Given the description of an element on the screen output the (x, y) to click on. 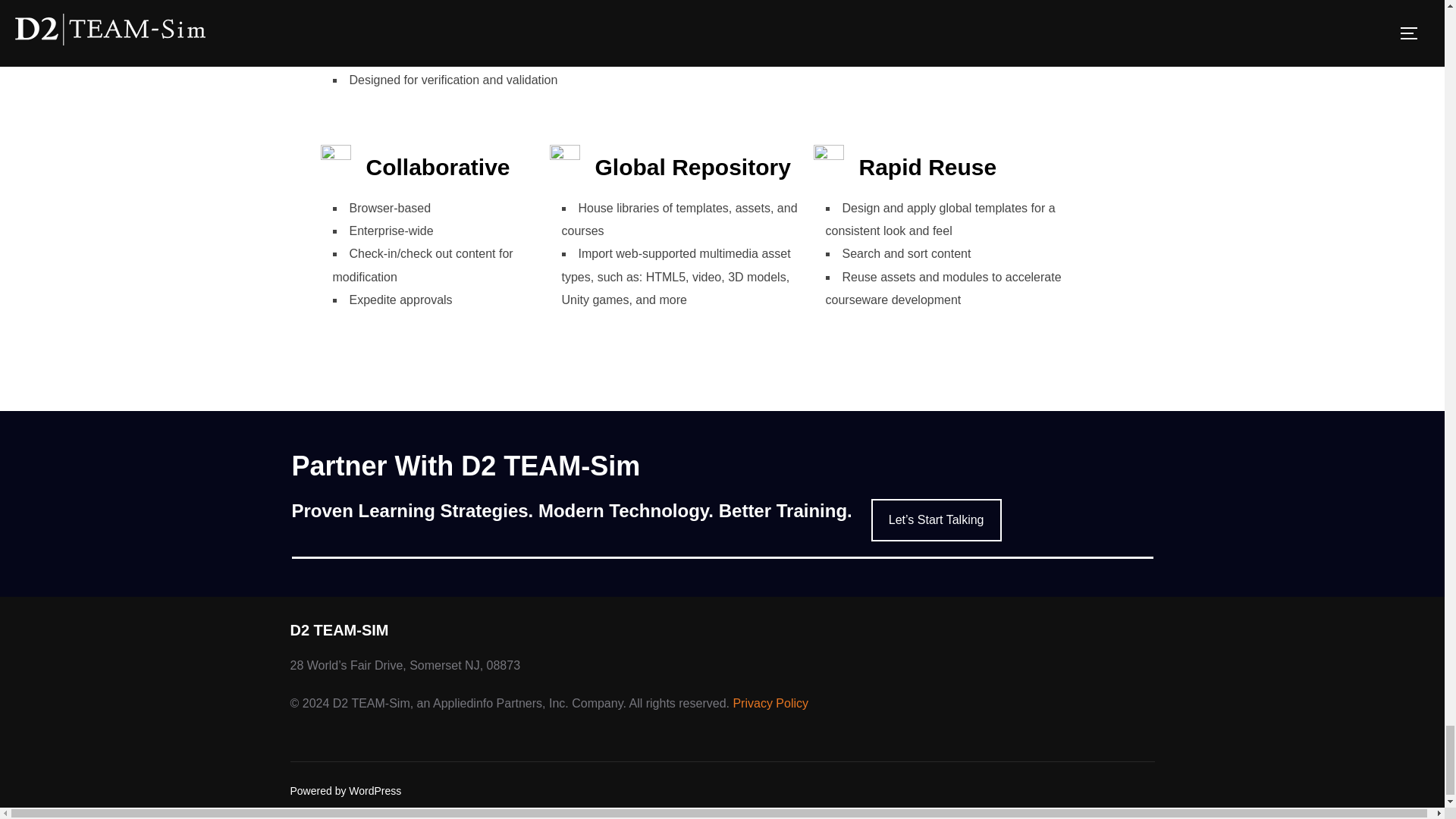
Privacy Policy (770, 703)
Powered by WordPress (345, 789)
